Given the description of an element on the screen output the (x, y) to click on. 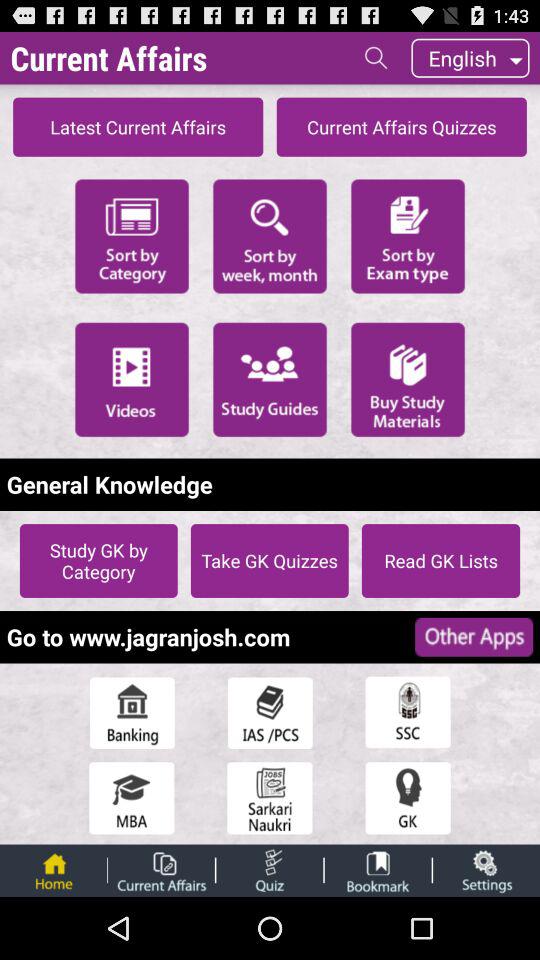
go to banking menu (131, 712)
